Given the description of an element on the screen output the (x, y) to click on. 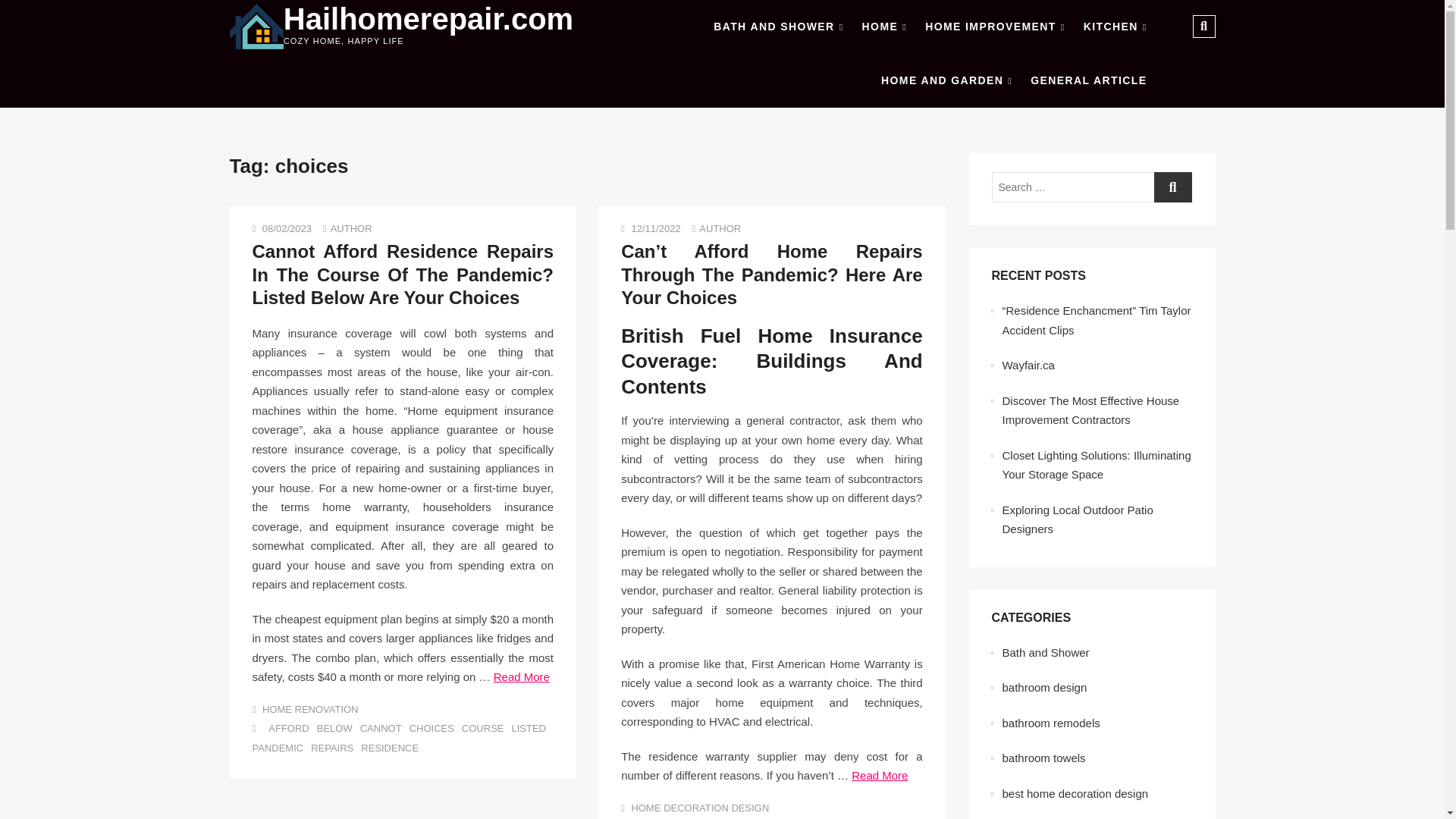
Hailhomerepair.com (428, 19)
Read More (521, 676)
AUTHOR (351, 228)
HOME (884, 27)
GENERAL ARTICLE (1088, 80)
HOME AND GARDEN (946, 80)
KITCHEN (1114, 27)
BATH AND SHOWER (778, 27)
HOME IMPROVEMENT (994, 27)
Hailhomerepair.com (428, 19)
